Given the description of an element on the screen output the (x, y) to click on. 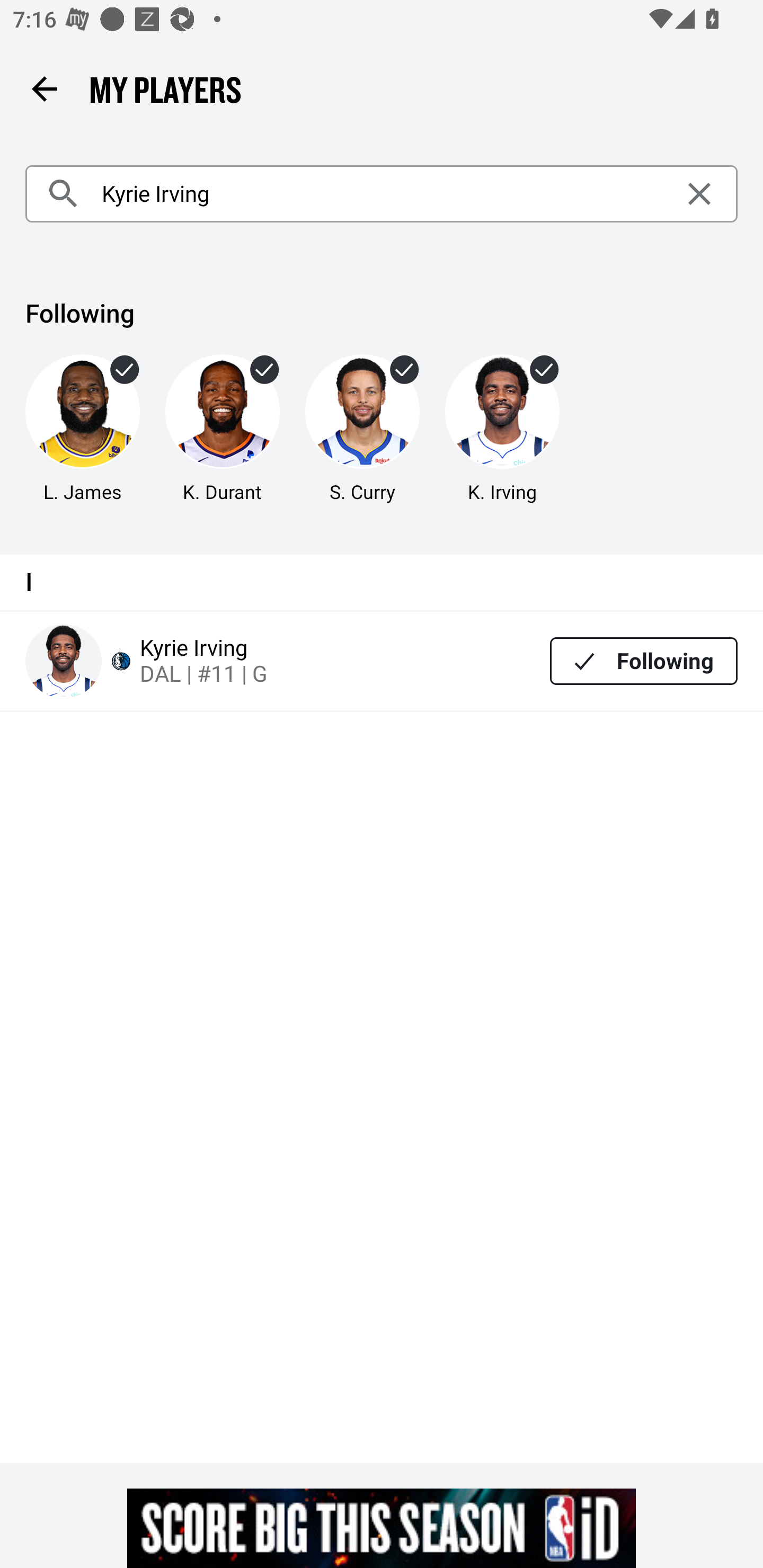
Back button (44, 88)
Kyrie Irving (381, 193)
Following (643, 660)
g5nqqygr7owph (381, 1528)
